Given the description of an element on the screen output the (x, y) to click on. 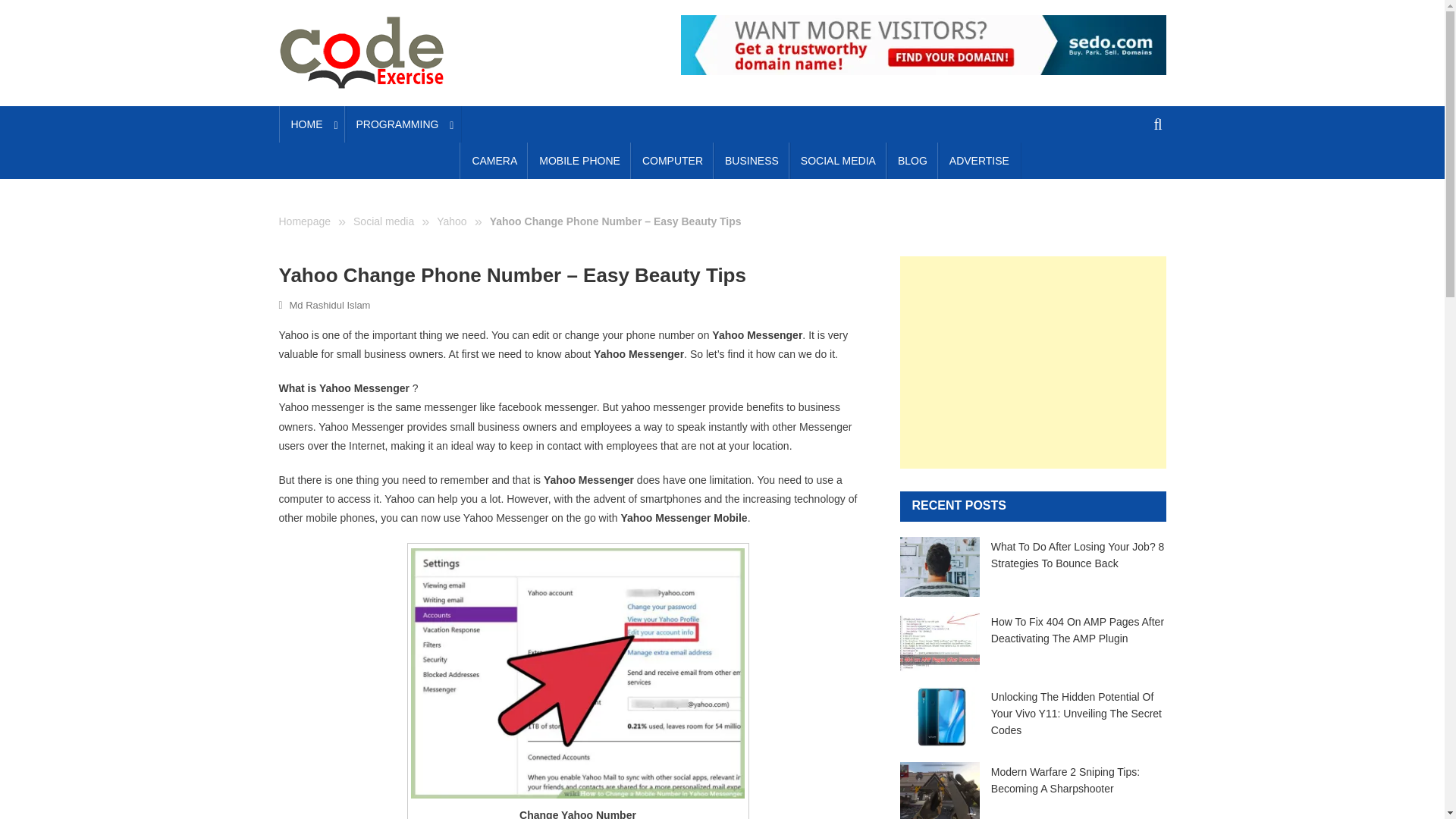
HOME (312, 124)
BUSINESS (751, 160)
Md Rashidul Islam (330, 305)
ADVERTISE (979, 160)
MOBILE PHONE (579, 160)
SOCIAL MEDIA (838, 160)
CAMERA (494, 160)
Advertisement (1032, 362)
Homepage (305, 221)
COMPUTER (672, 160)
Search (1133, 179)
Blog (912, 160)
Yahoo (450, 221)
Homepage (305, 221)
PROGRAMMING (403, 124)
